Given the description of an element on the screen output the (x, y) to click on. 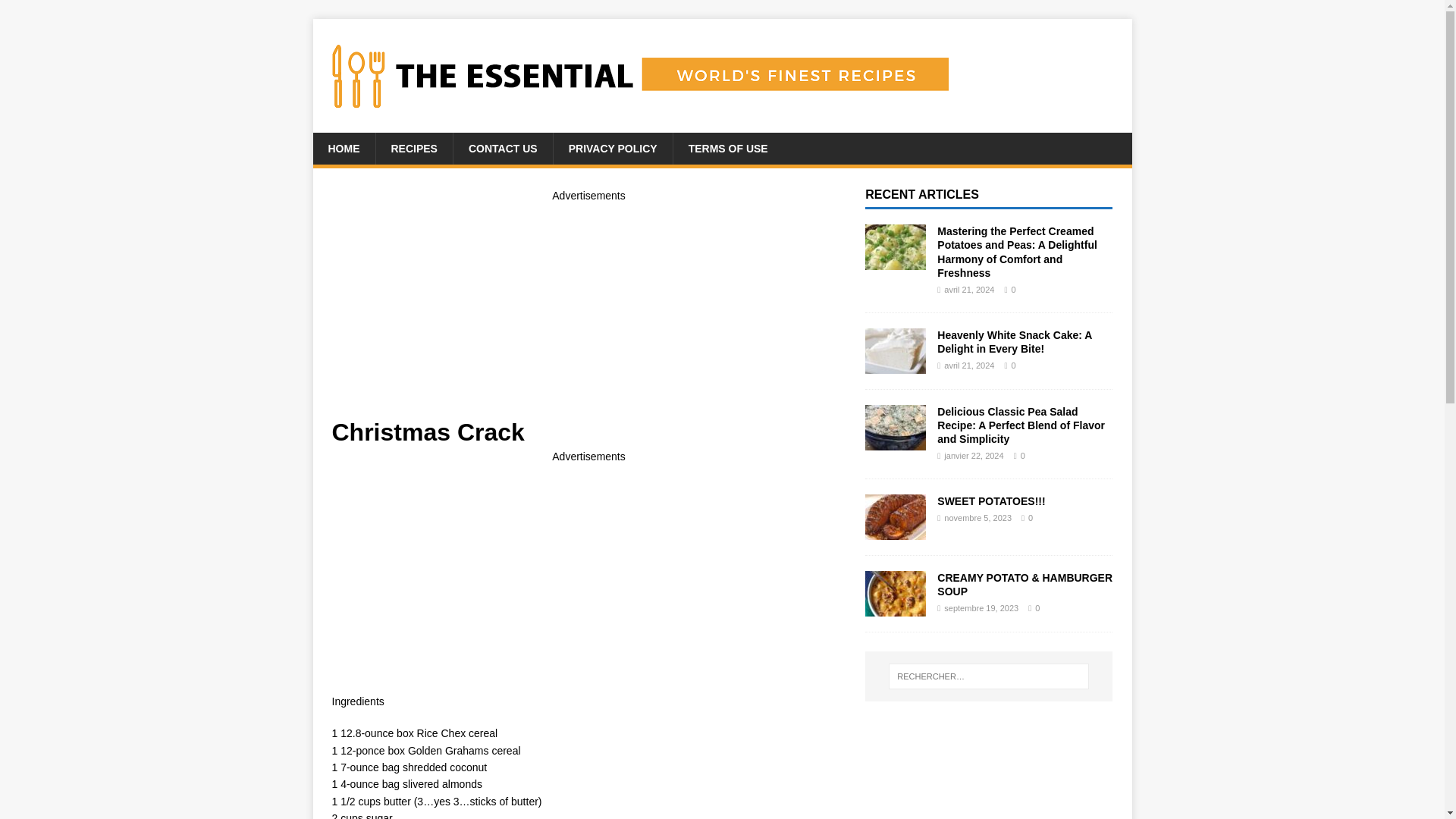
SWEET POTATOES!!! (991, 500)
RECIPES (412, 148)
CONTACT US (502, 148)
PRIVACY POLICY (612, 148)
Heavenly White Snack Cake: A Delight in Every Bite! (895, 364)
TERMS OF USE (727, 148)
Heavenly White Snack Cake: A Delight in Every Bite! (1014, 341)
SWEET POTATOES!!! (991, 500)
Heavenly White Snack Cake: A Delight in Every Bite! (1014, 341)
SWEET POTATOES!!! (895, 530)
HOME (343, 148)
Advertisement (588, 310)
